Given the description of an element on the screen output the (x, y) to click on. 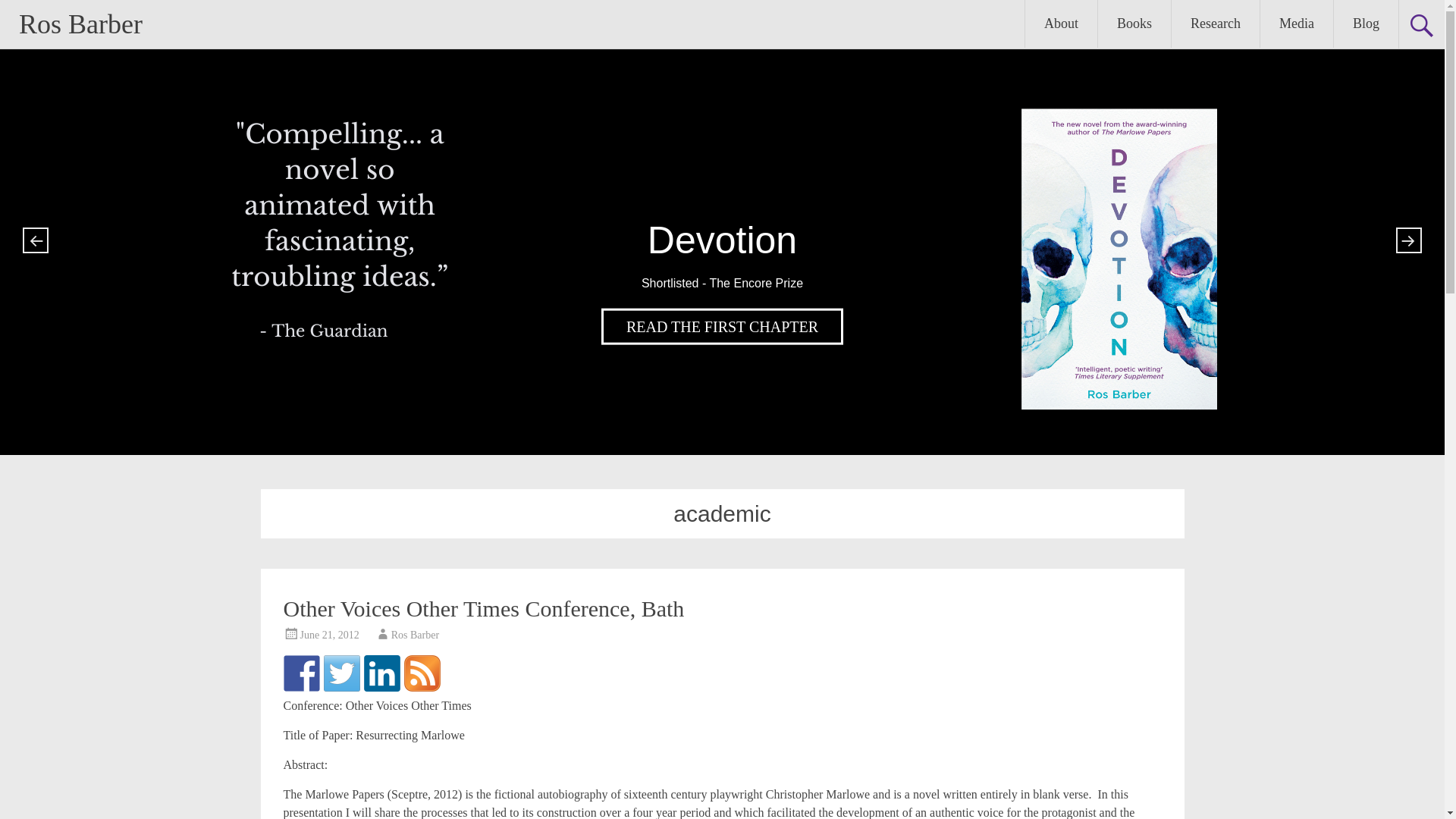
About (1061, 23)
Research (1215, 23)
READ THE FIRST CHAPTER (722, 326)
Books (1133, 23)
Follow me on Twitter (341, 673)
Media (1296, 23)
Find me on Linked in (382, 673)
June 21, 2012 (329, 634)
Follow me on Facebook (301, 673)
Other Voices Other Times Conference, Bath (483, 608)
Ros Barber (80, 24)
Subscribe to my RSS feed (421, 673)
Devotion (722, 326)
Ros Barber (415, 634)
